Given the description of an element on the screen output the (x, y) to click on. 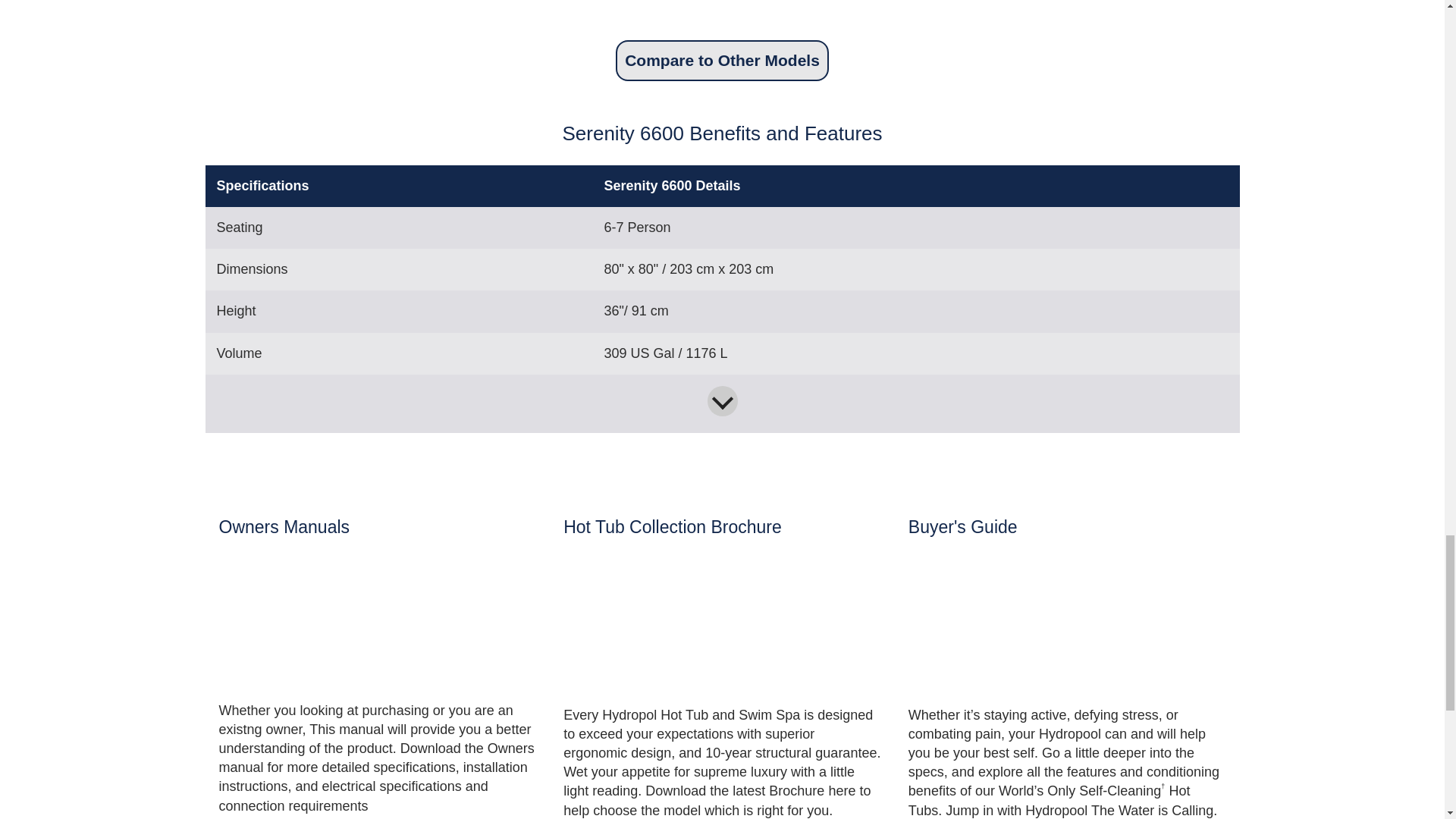
View more (721, 400)
